Given the description of an element on the screen output the (x, y) to click on. 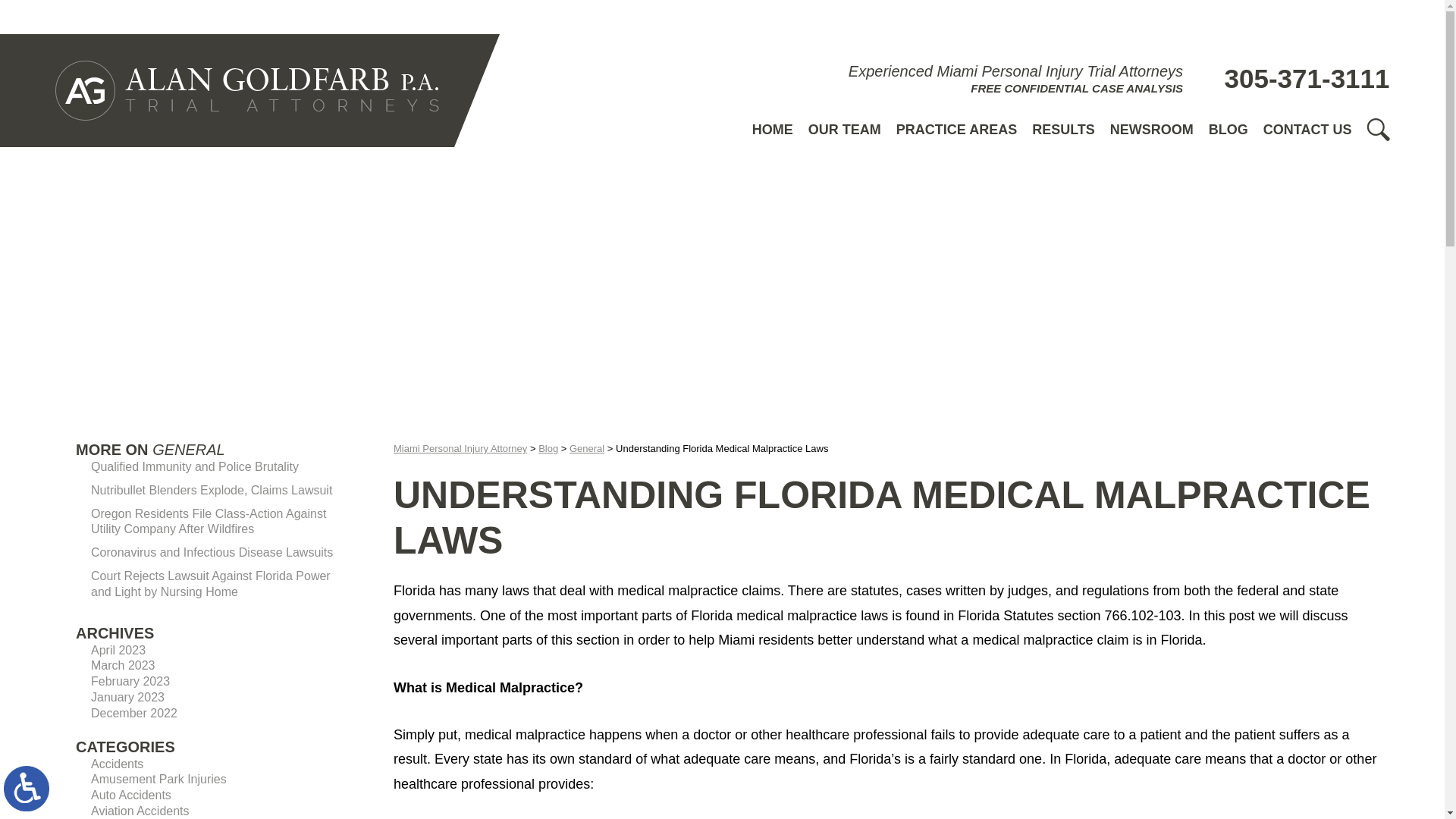
PRACTICE AREAS (956, 128)
305-371-3111 (1294, 78)
OUR TEAM (844, 128)
Switch to ADA Accessible Theme (26, 788)
Search (1378, 128)
HOME (772, 128)
